Given the description of an element on the screen output the (x, y) to click on. 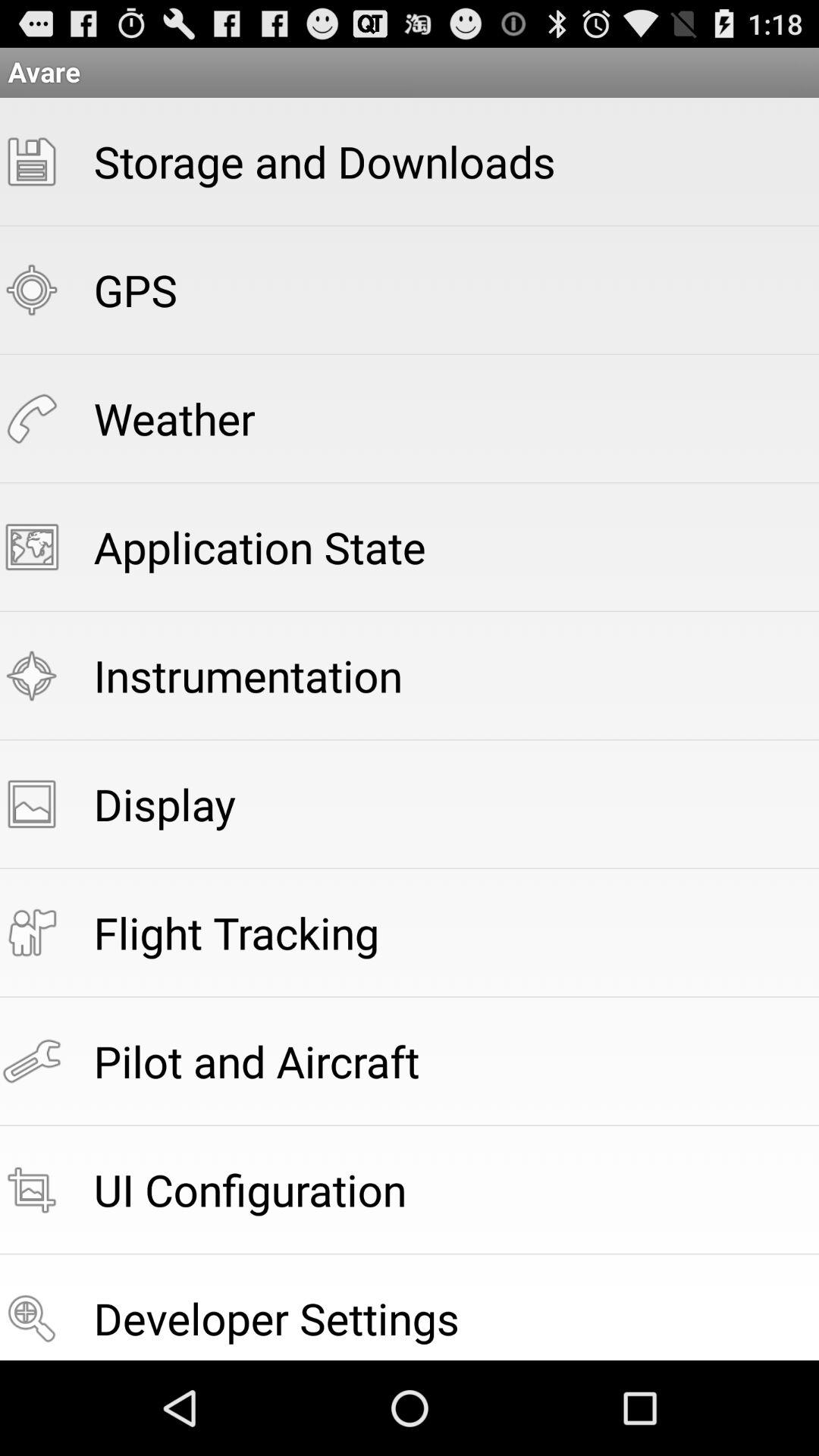
turn off item below avare item (324, 160)
